Given the description of an element on the screen output the (x, y) to click on. 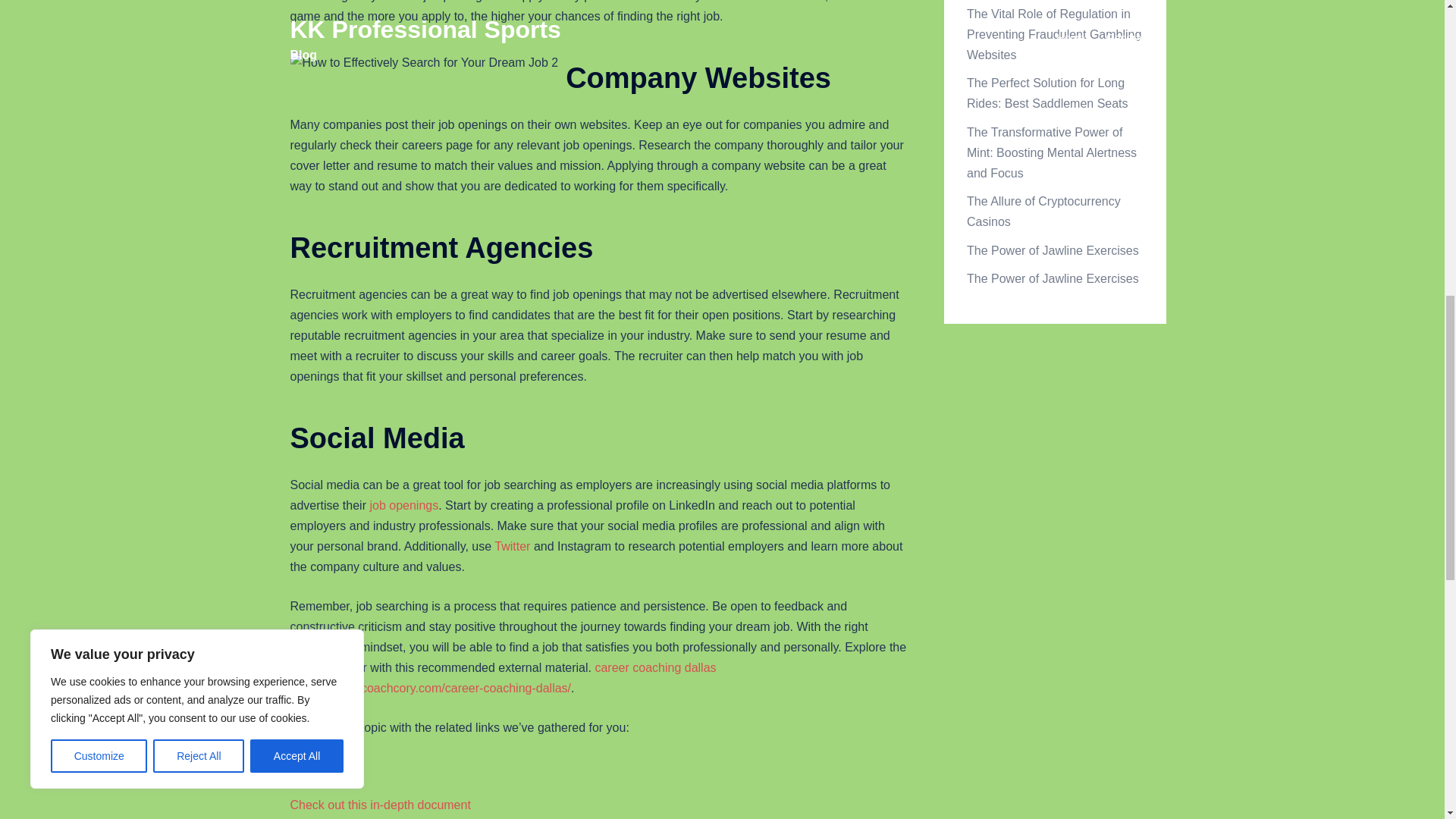
Review now (322, 766)
job openings (403, 504)
Check out this in-depth document (379, 804)
Twitter (512, 545)
